Given the description of an element on the screen output the (x, y) to click on. 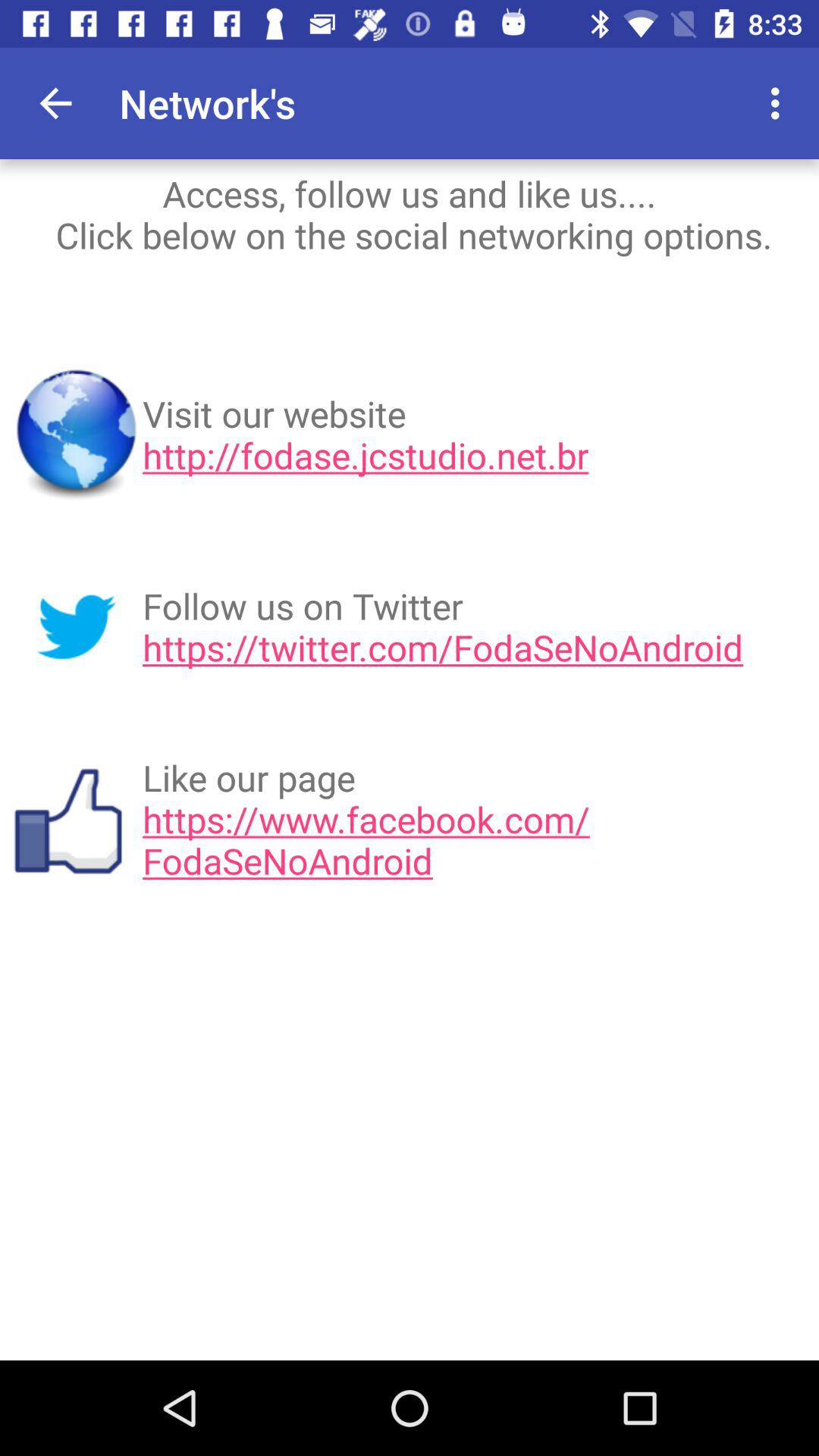
click visit our website icon (475, 434)
